Given the description of an element on the screen output the (x, y) to click on. 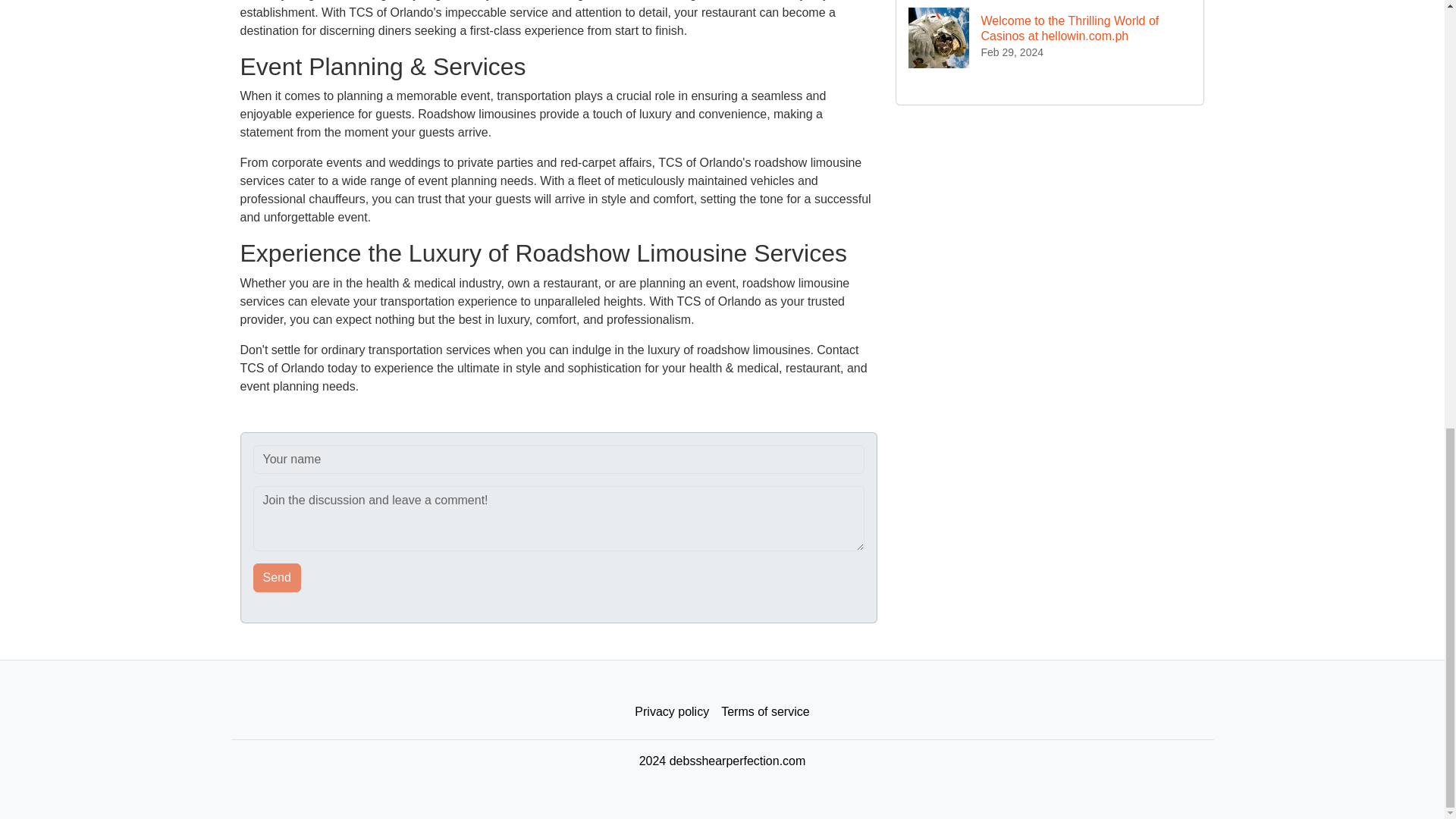
Privacy policy (671, 711)
Terms of service (764, 711)
Send (277, 577)
Send (277, 577)
